Given the description of an element on the screen output the (x, y) to click on. 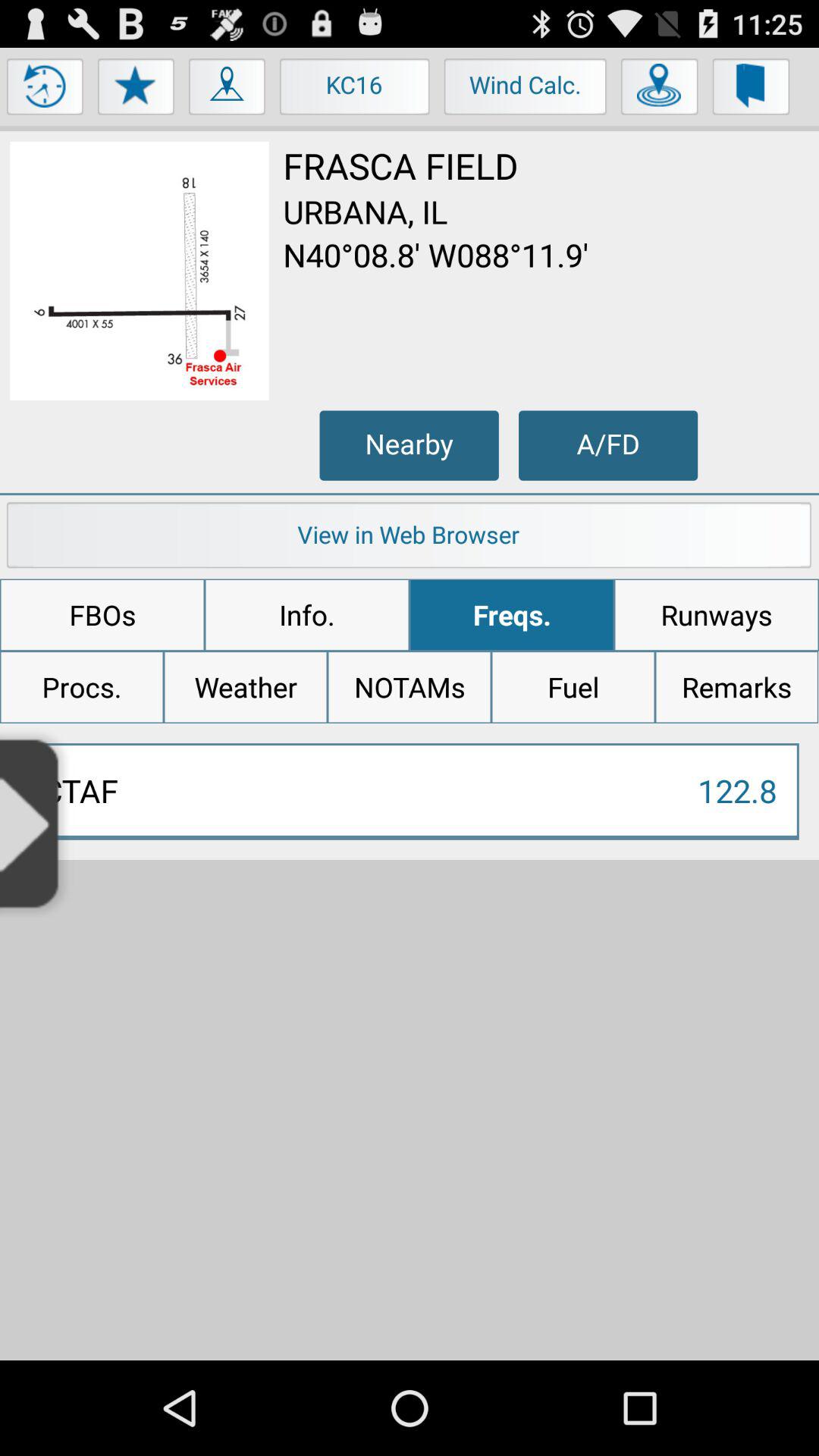
open slide out menu (36, 822)
